Given the description of an element on the screen output the (x, y) to click on. 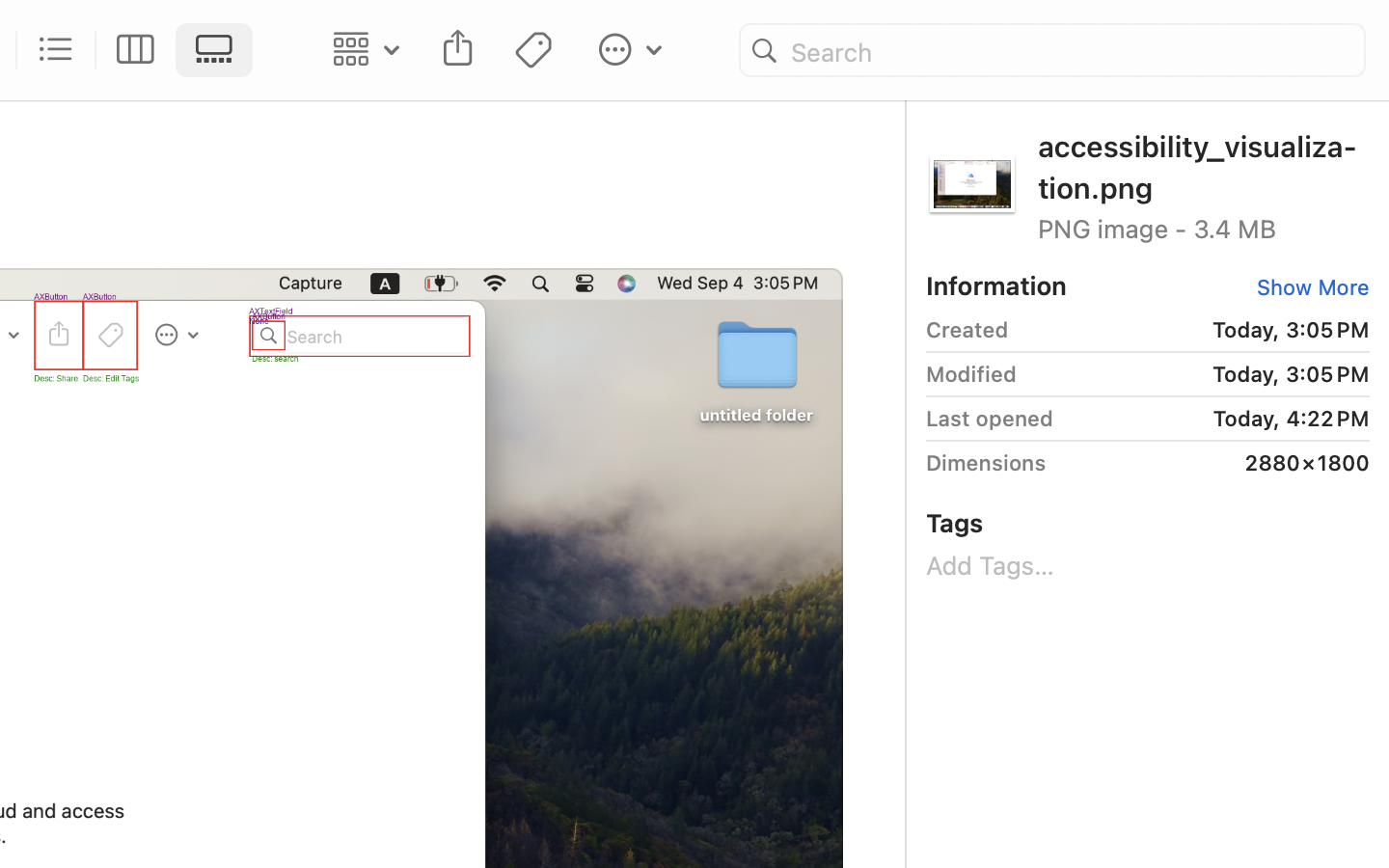
Created Element type: AXStaticText (967, 329)
0 Element type: AXRadioButton (135, 49)
2880 × 1800 Element type: AXStaticText (1214, 462)
Last opened Element type: AXStaticText (989, 418)
accessibility_visualization.png Element type: AXStaticText (1203, 165)
